Given the description of an element on the screen output the (x, y) to click on. 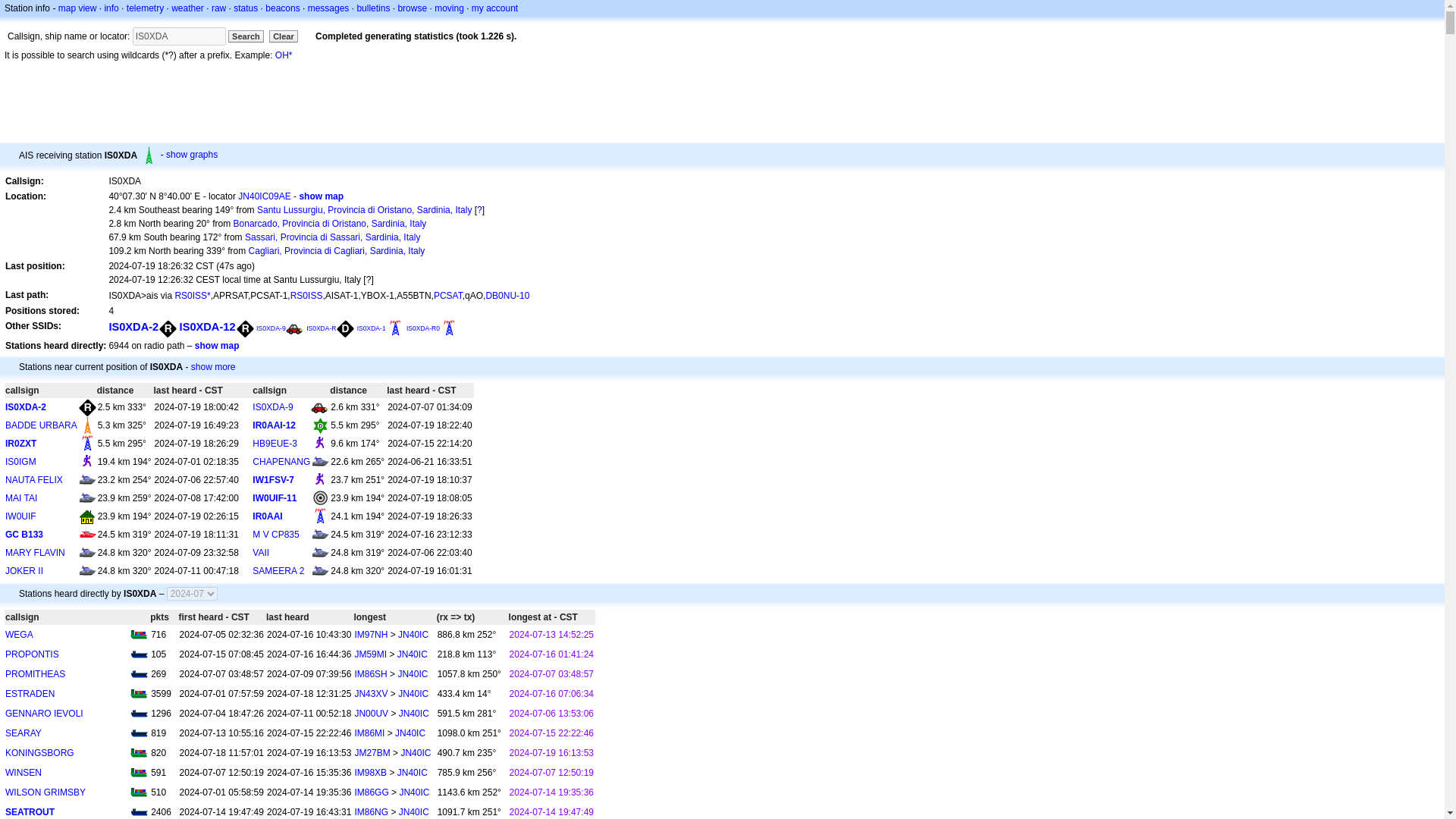
IS0XDA-9 (271, 407)
messages (328, 8)
Bonarcado, Provincia di Oristano, Sardinia, Italy (329, 223)
IS0XDA-R0 (422, 328)
IS0XDA-1 (370, 328)
show graphs (190, 154)
IS0XDA (178, 36)
info (110, 8)
show map (320, 195)
beacons (281, 8)
Search (245, 36)
map view (77, 8)
IR0ZXT (20, 443)
weather (187, 8)
browse (411, 8)
